Given the description of an element on the screen output the (x, y) to click on. 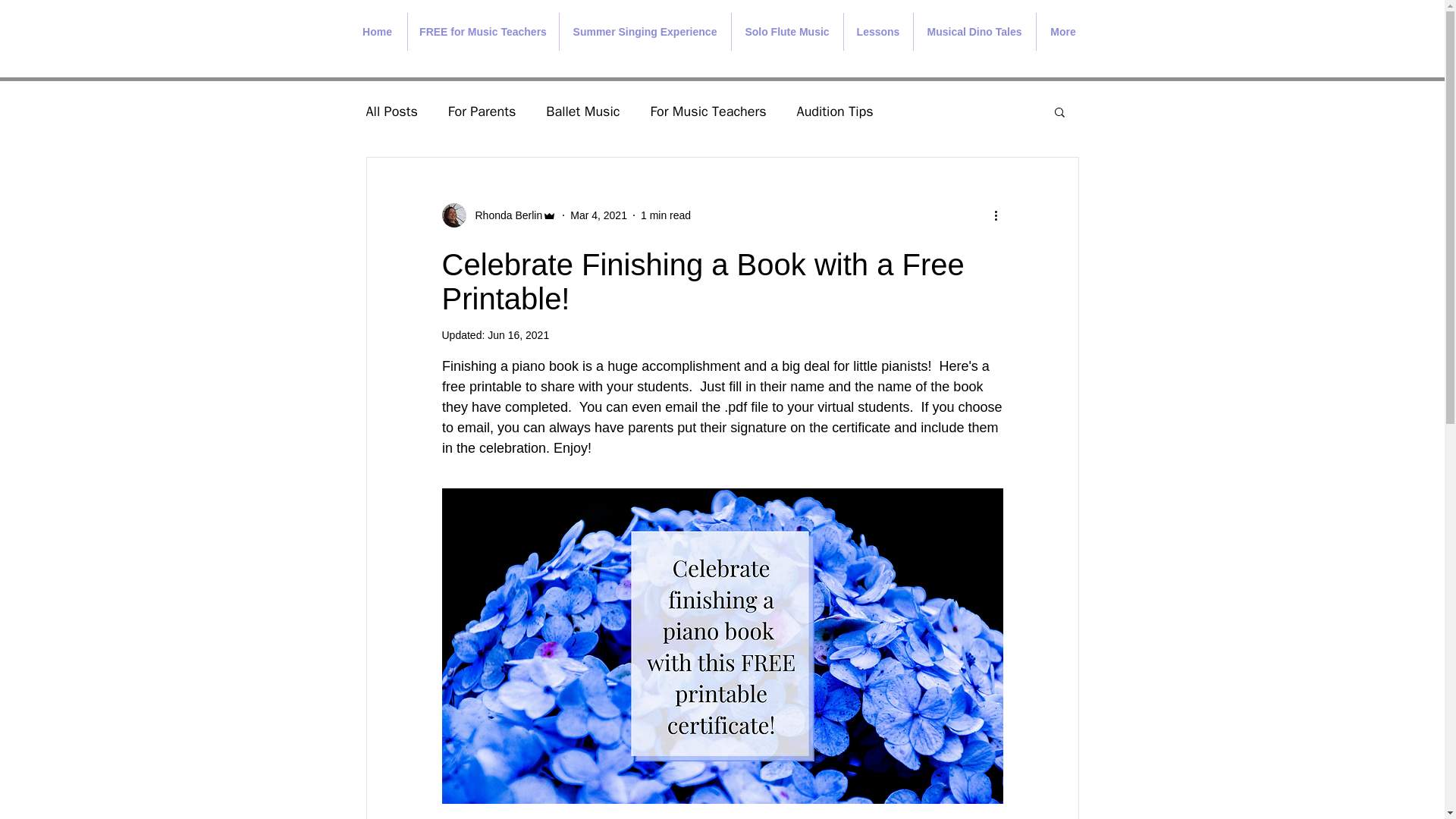
1 min read (665, 215)
Mar 4, 2021 (598, 215)
All Posts (390, 111)
Ballet Music (583, 111)
Solo Flute Music (786, 31)
Jun 16, 2021 (517, 335)
Rhonda Berlin (503, 215)
Lessons (877, 31)
Home (376, 31)
Summer Singing Experience (644, 31)
